Given the description of an element on the screen output the (x, y) to click on. 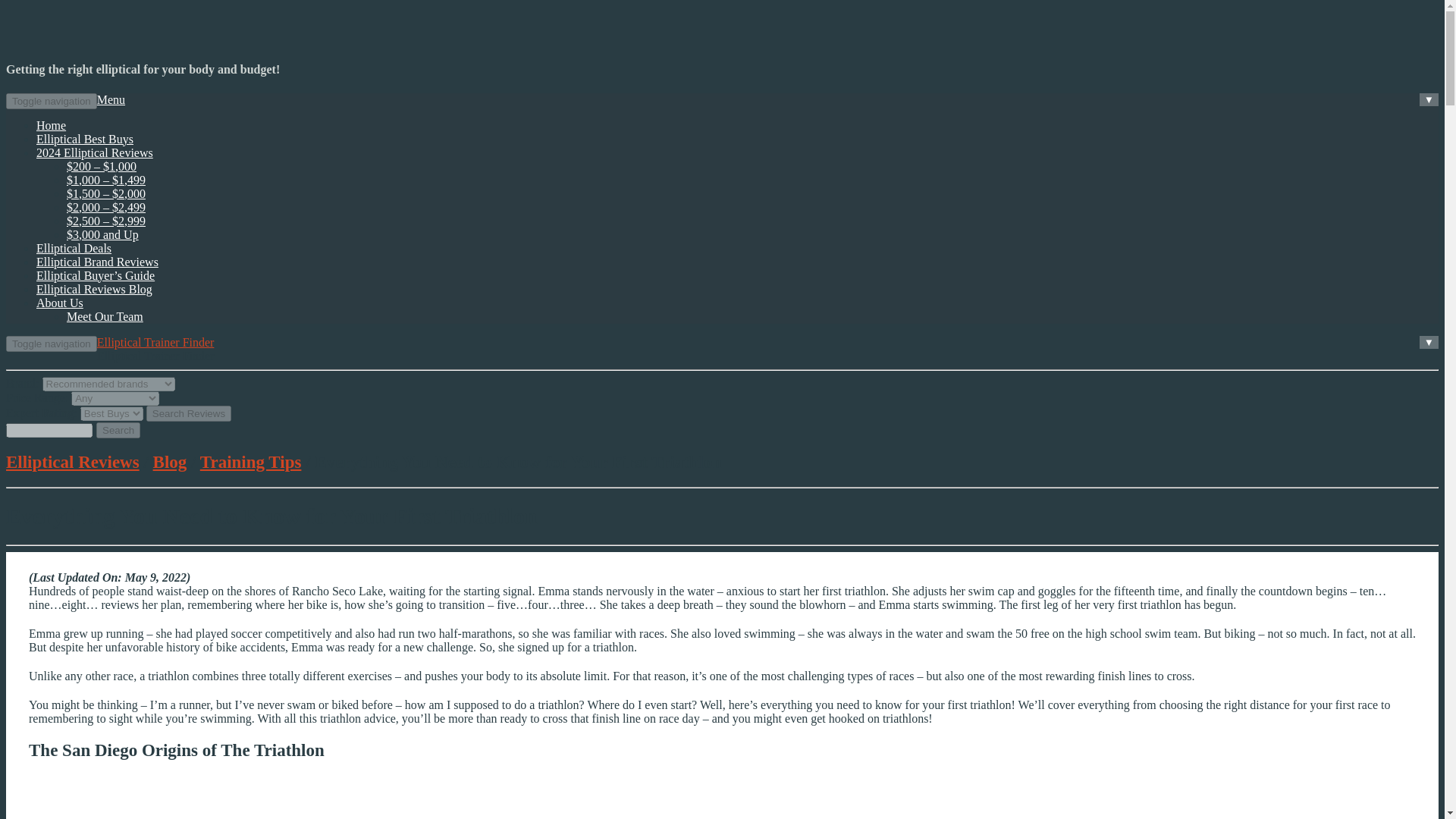
Elliptical Trainer Finder (155, 341)
2024 Elliptical Reviews (94, 152)
Elliptical Brand Reviews (97, 261)
2024 Elliptical Reviews (94, 152)
Elliptical Brand Reviews (97, 261)
Menu (111, 99)
Elliptical Best Buys (84, 138)
Elliptical Reviews Blog (94, 288)
Toggle navigation (51, 343)
Toggle navigation (51, 100)
Elliptical Best Buys (84, 138)
Training Tips (250, 461)
About Us (59, 302)
Meet Our Team (104, 316)
Home (50, 124)
